Given the description of an element on the screen output the (x, y) to click on. 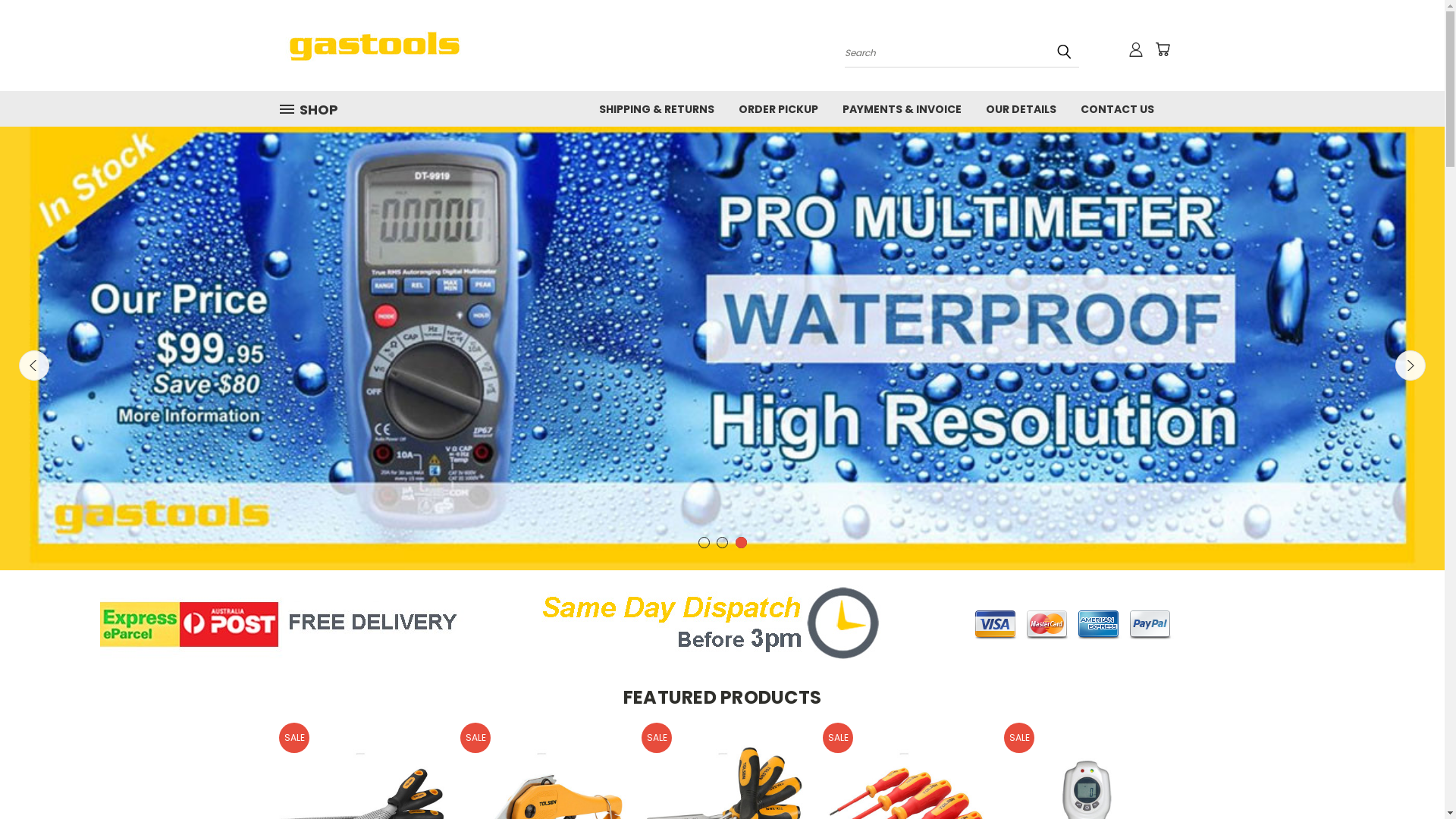
Next Element type: text (1410, 365)
ORDER PICKUP Element type: text (778, 108)
PAYMENTS & INVOICE Element type: text (900, 108)
gastools Element type: hover (373, 45)
OUR DETAILS Element type: text (1020, 108)
Previous Element type: text (33, 365)
SHIPPING & RETURNS Element type: text (656, 108)
SHOP Element type: text (314, 109)
CONTACT US Element type: text (1116, 108)
submit Element type: hover (1063, 51)
